Given the description of an element on the screen output the (x, y) to click on. 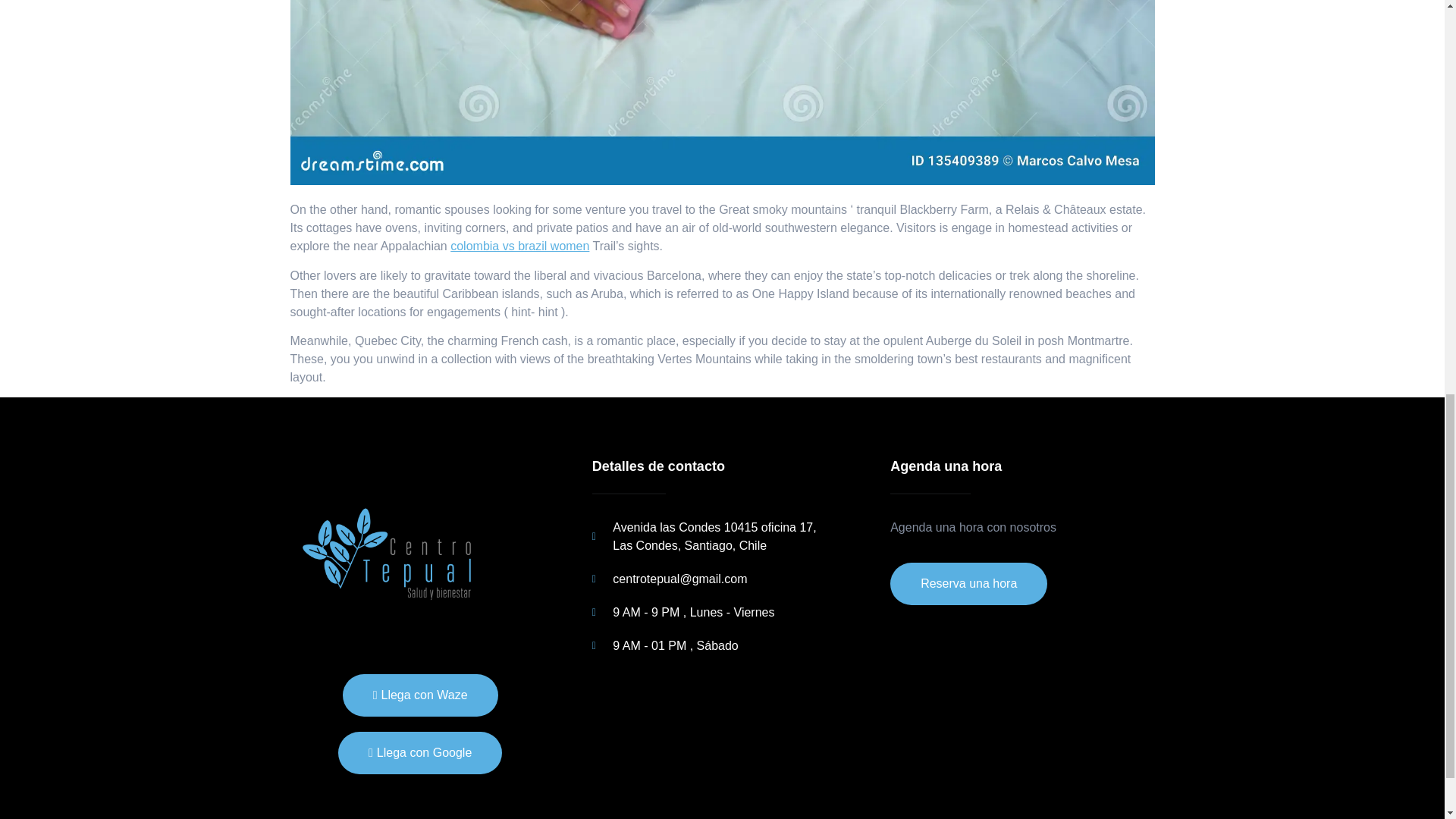
Llega con Google (419, 752)
Llega con Waze (419, 695)
colombia vs brazil women (519, 245)
Reserva una hora (967, 583)
